Given the description of an element on the screen output the (x, y) to click on. 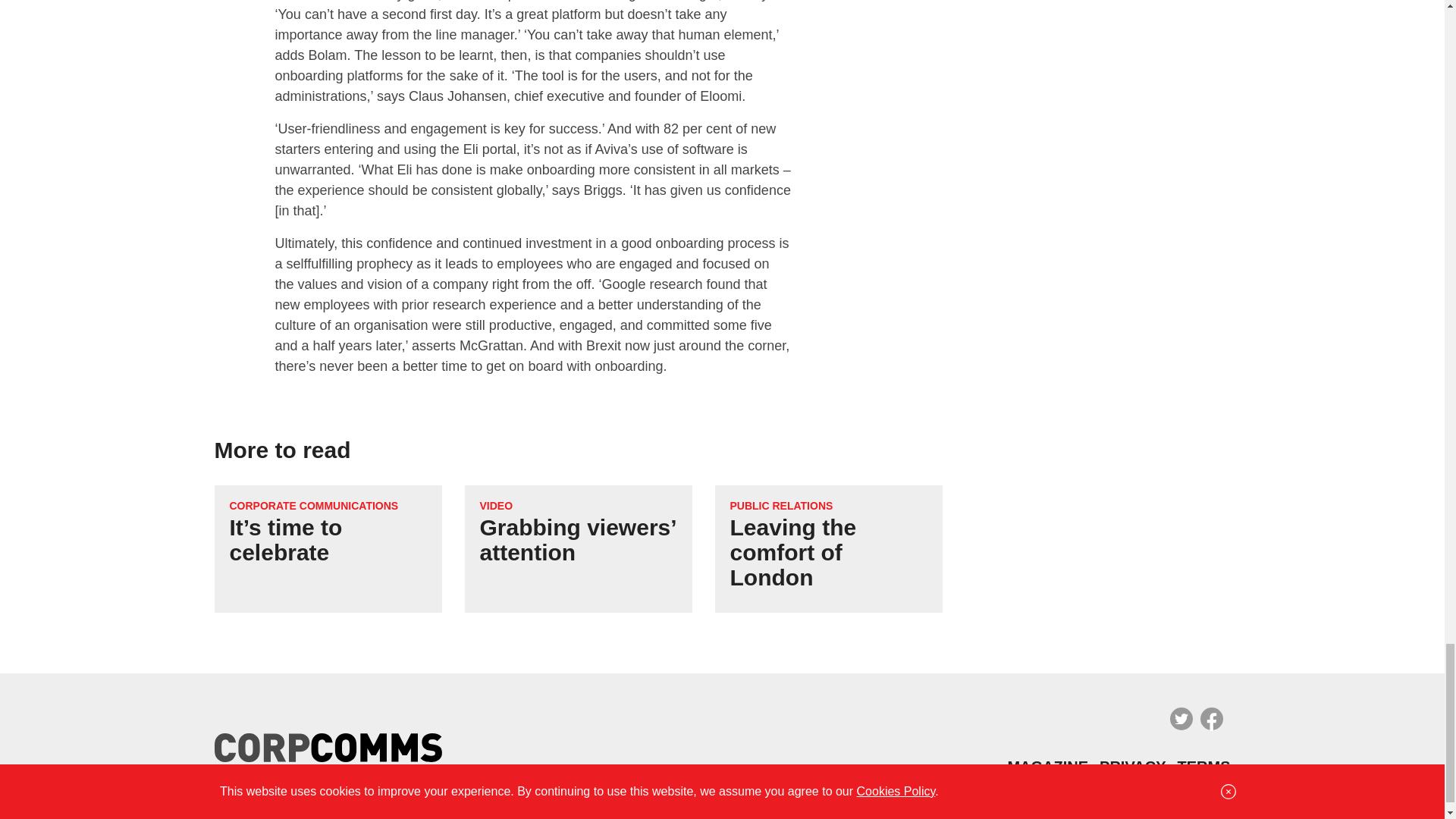
VIDEO (495, 505)
CORPORATE COMMUNICATIONS (312, 505)
Leaving the comfort of London (792, 552)
PUBLIC RELATIONS (780, 505)
